Given the description of an element on the screen output the (x, y) to click on. 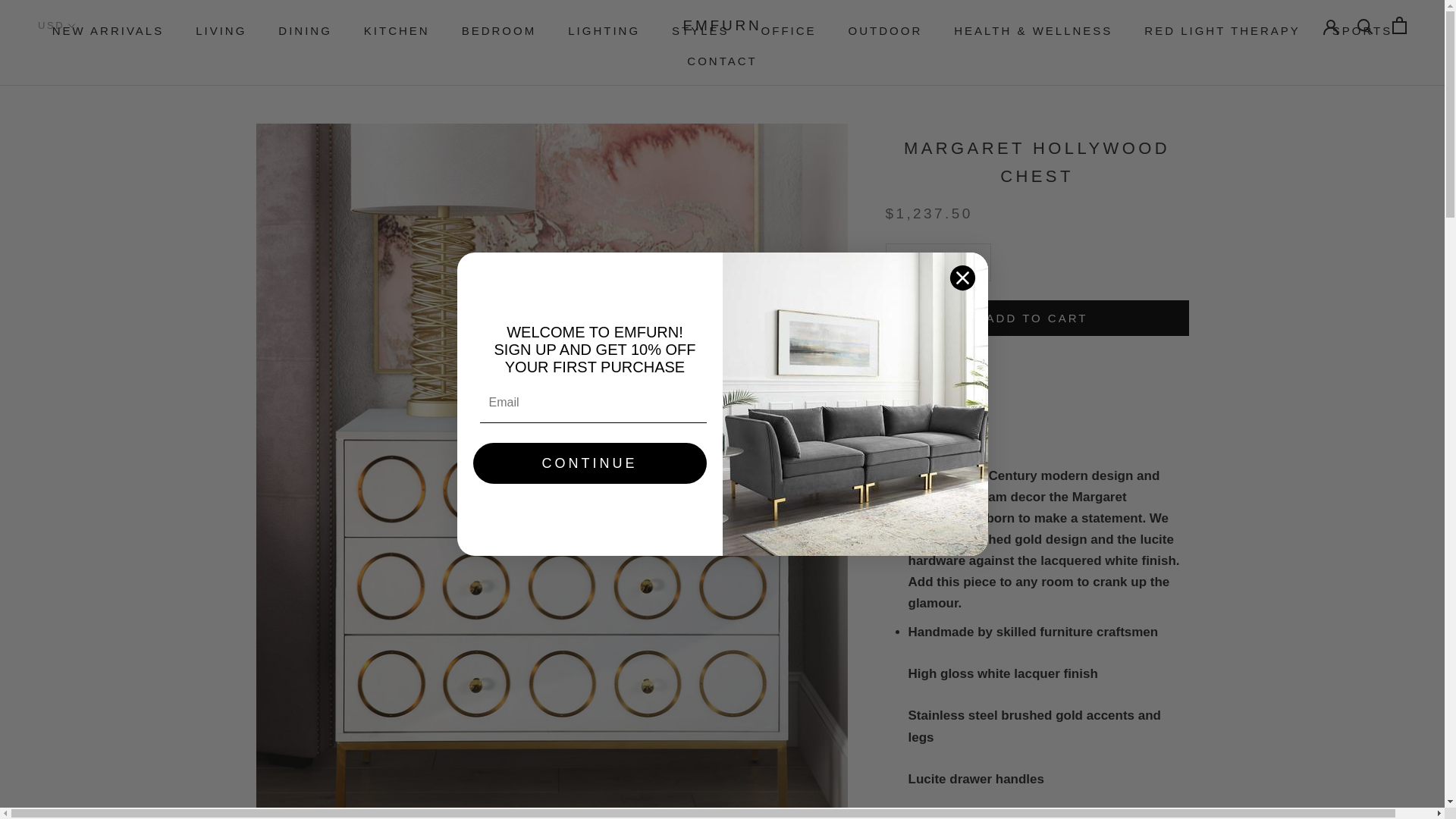
Currency selector (57, 25)
1 (938, 262)
